Given the description of an element on the screen output the (x, y) to click on. 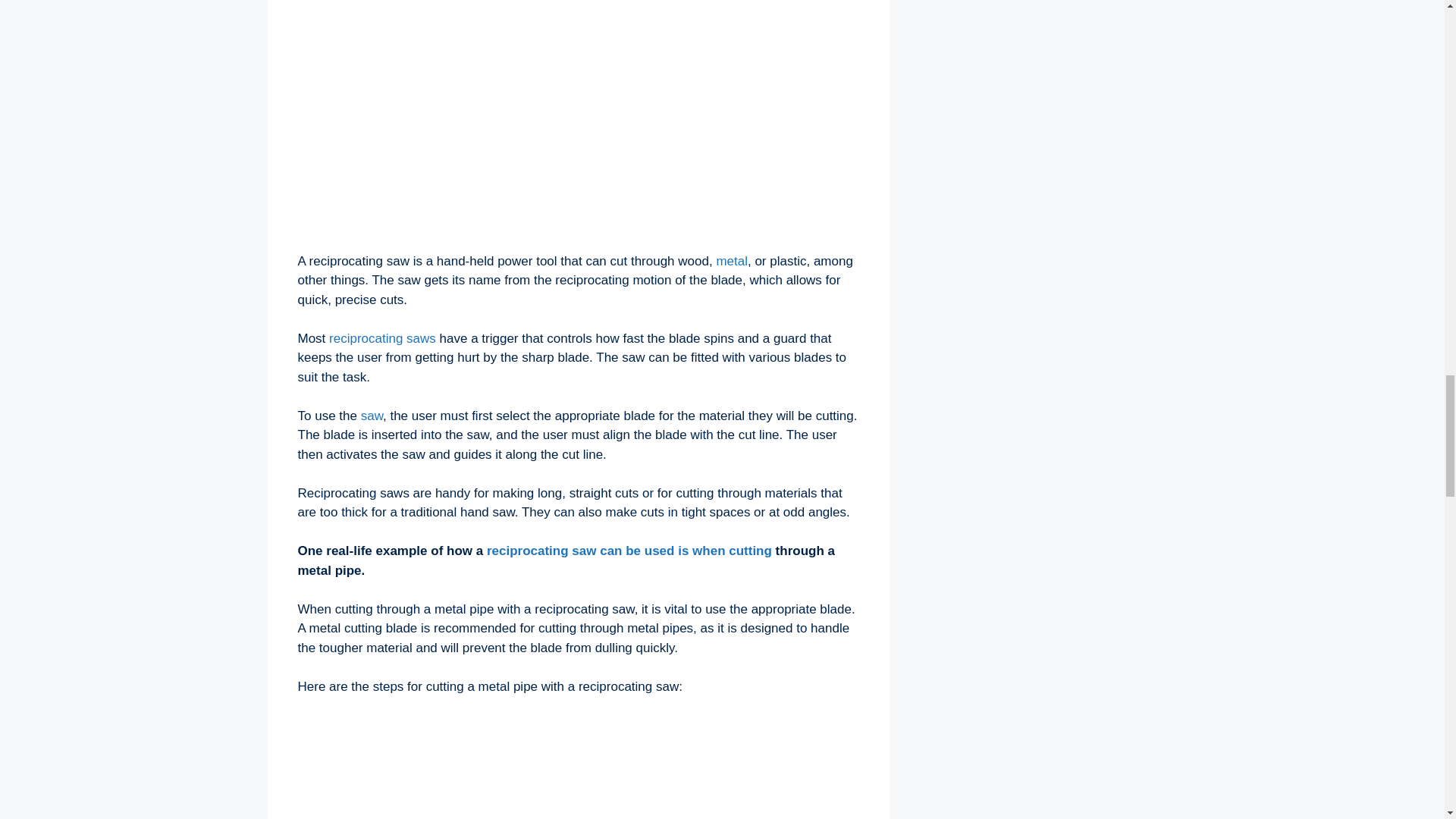
saw (371, 415)
metal (732, 260)
reciprocating saws (382, 338)
reciprocating saw can be used is when cutting (628, 550)
